Given the description of an element on the screen output the (x, y) to click on. 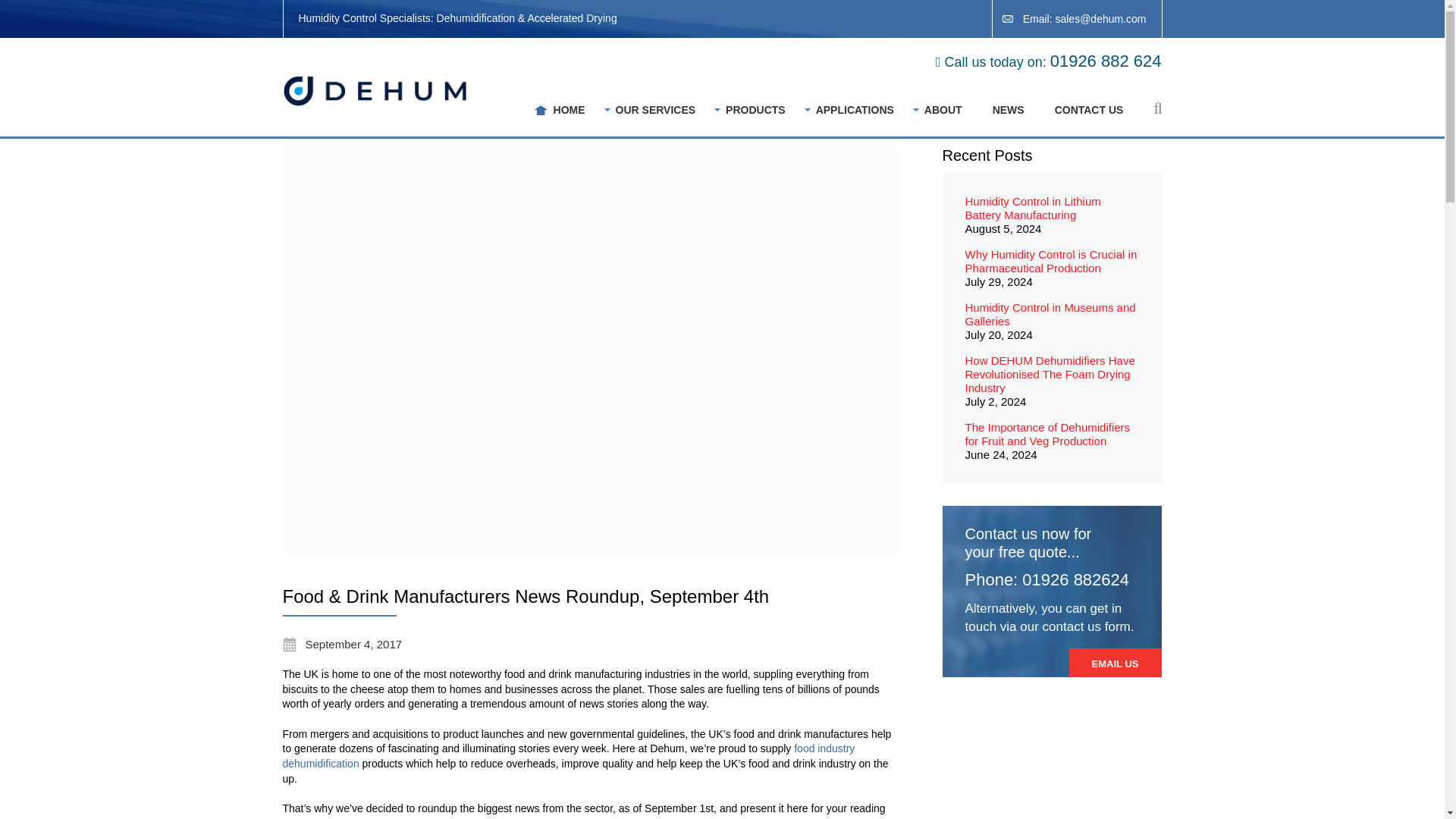
APPLICATIONS (854, 109)
01926 882 624 (1105, 60)
PRODUCTS (755, 109)
OUR SERVICES (655, 109)
Dehum (376, 90)
